Given the description of an element on the screen output the (x, y) to click on. 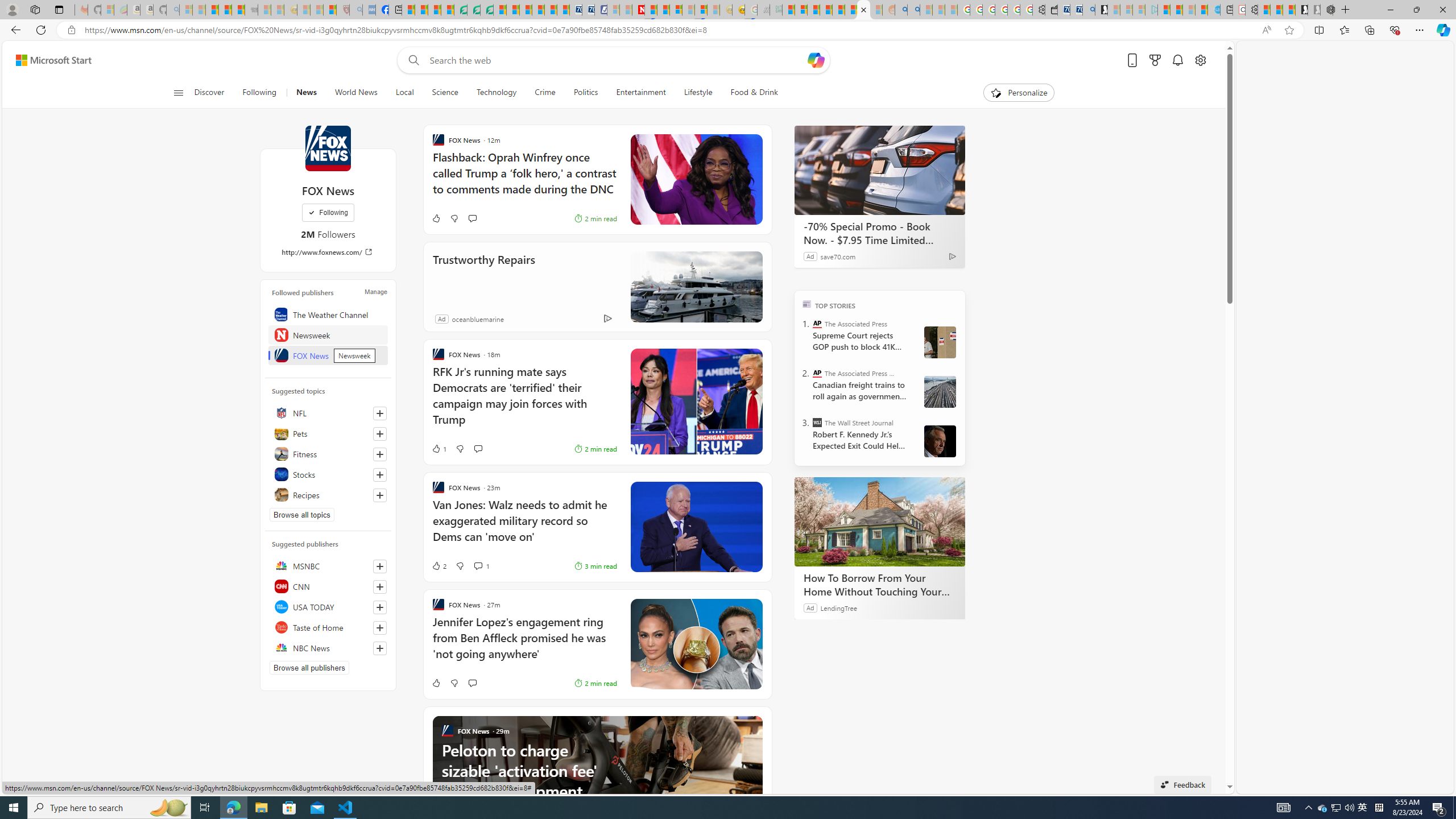
Follow this source (379, 648)
FOX News (327, 355)
TOP (806, 302)
Latest Politics News & Archive | Newsweek.com (638, 9)
